Given the description of an element on the screen output the (x, y) to click on. 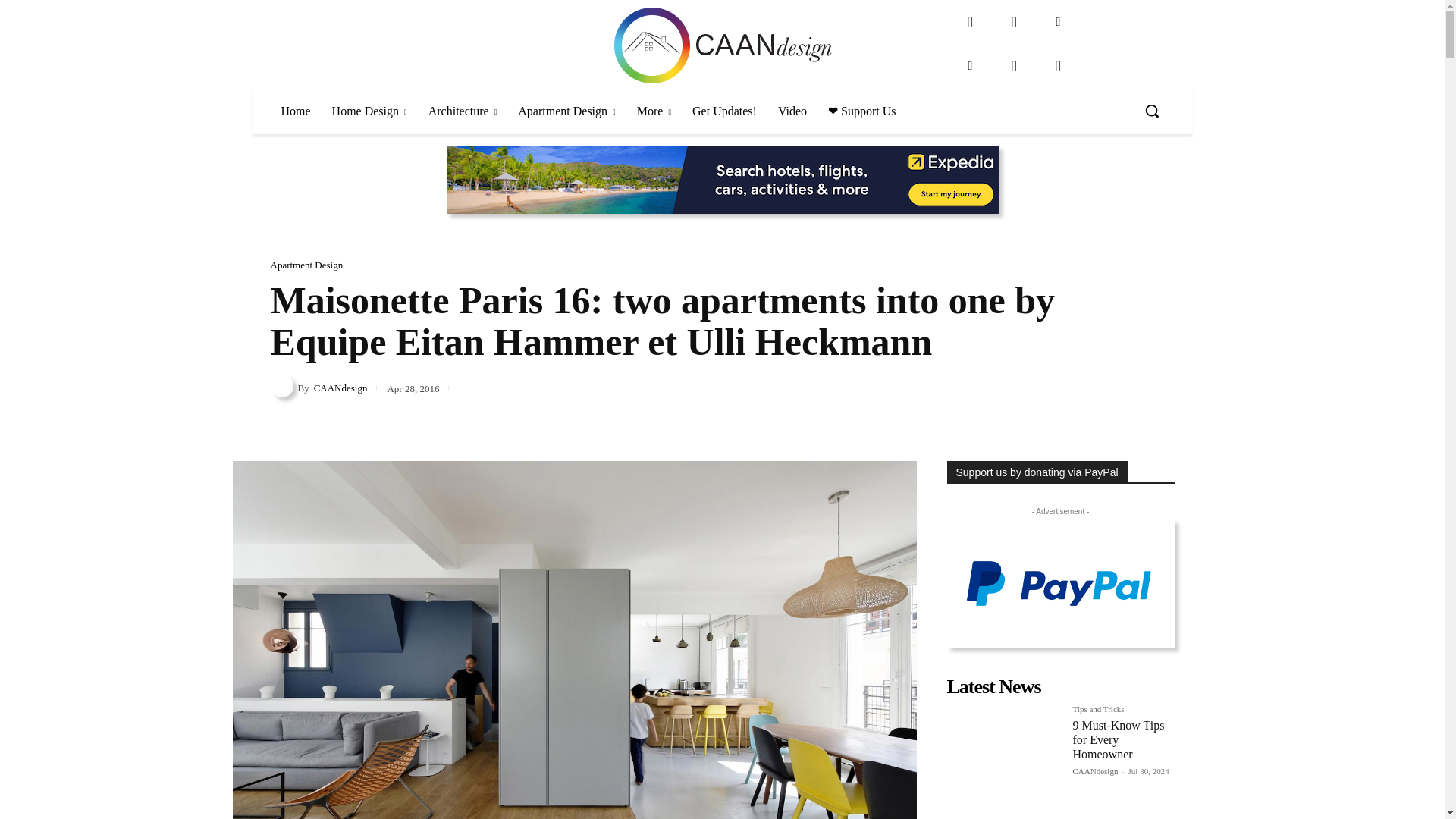
architecture and home design website (721, 45)
Instagram (1013, 22)
Home Design (369, 110)
Facebook (970, 22)
Home (294, 110)
architecture and home design website (722, 45)
